Given the description of an element on the screen output the (x, y) to click on. 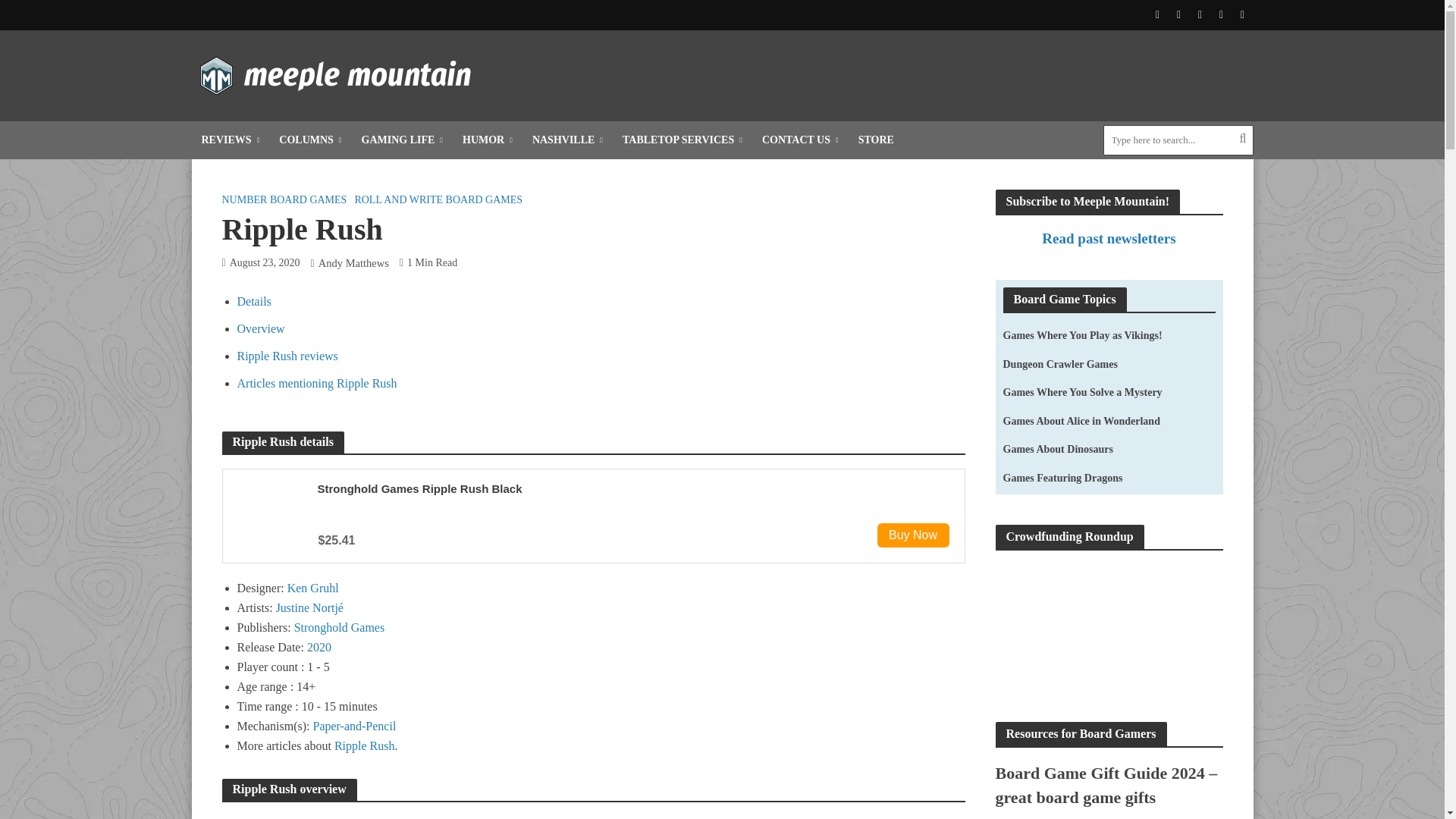
COLUMNS (309, 139)
GAMING LIFE (402, 139)
REVIEWS (229, 139)
Stronghold Games Ripple Rush Black (419, 488)
HUMOR (487, 139)
NASHVILLE (567, 139)
